Given the description of an element on the screen output the (x, y) to click on. 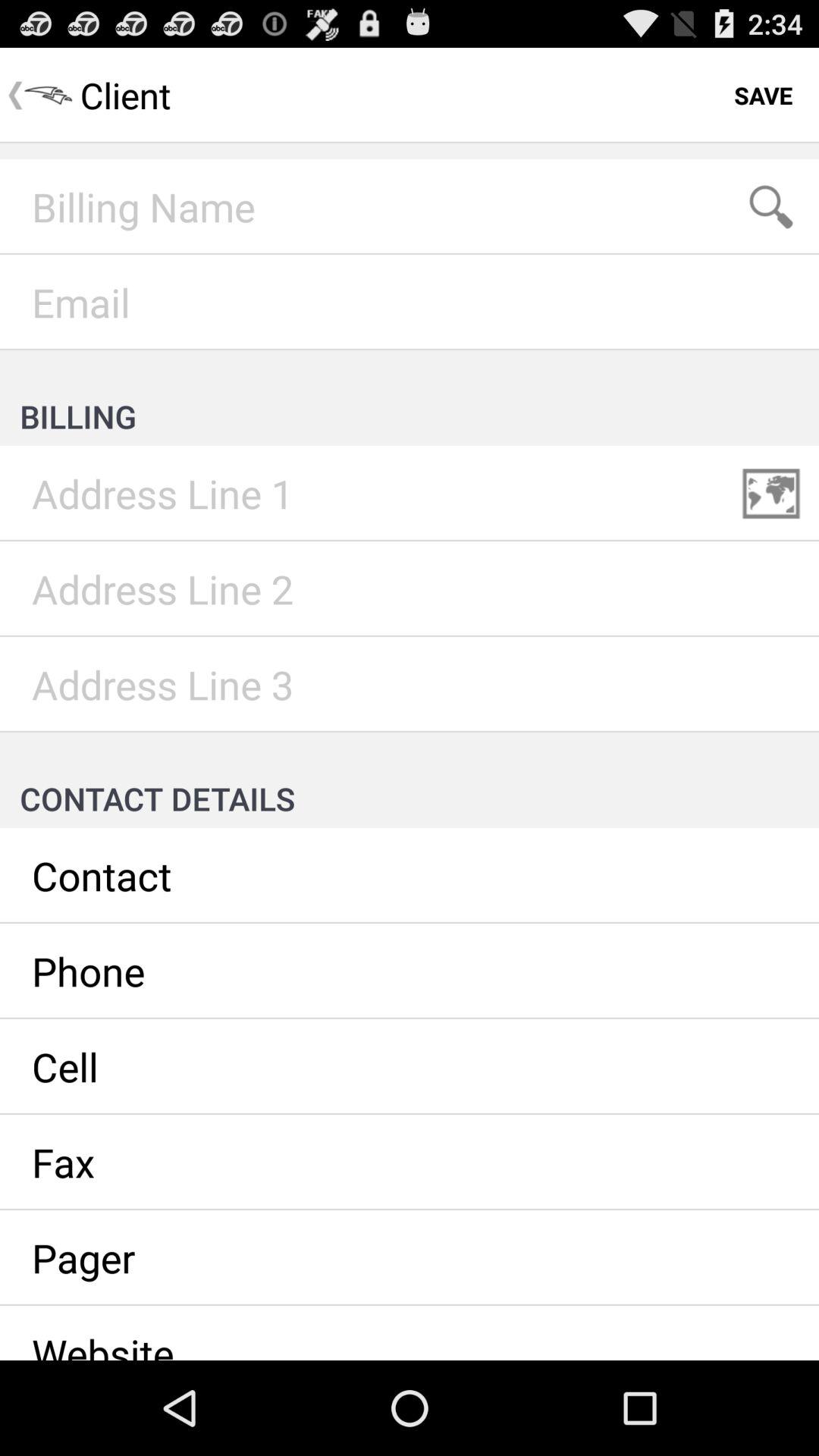
tap save (763, 95)
